Given the description of an element on the screen output the (x, y) to click on. 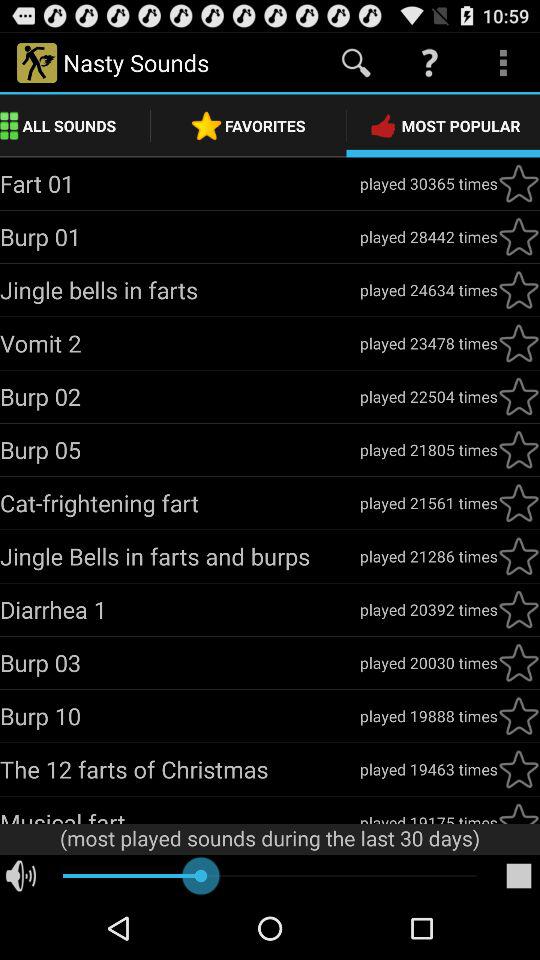
click on burp 03 star (519, 663)
